Given the description of an element on the screen output the (x, y) to click on. 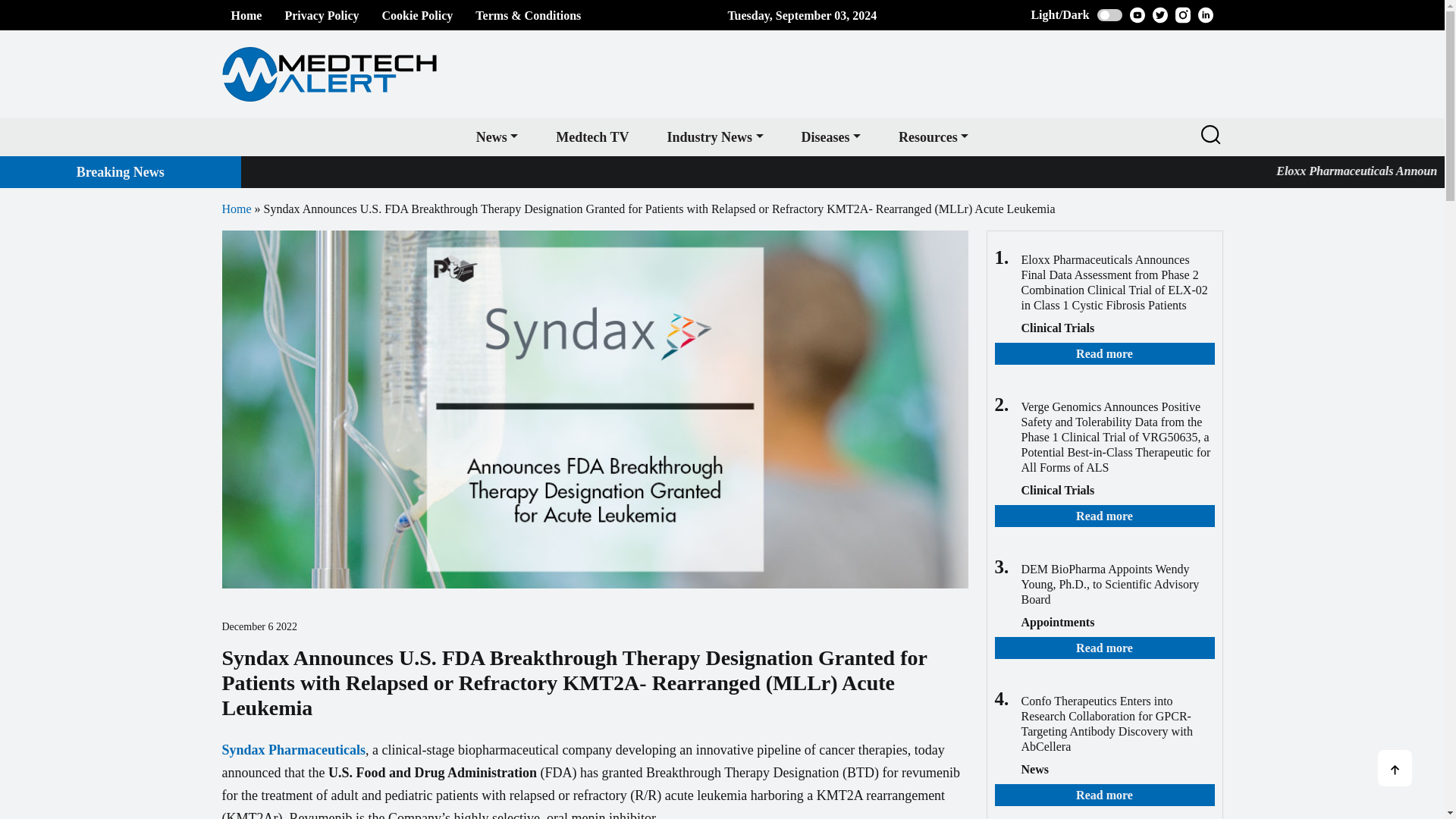
Industry News (714, 136)
Privacy Policy (320, 15)
Home (246, 15)
Diseases (831, 136)
News (497, 136)
Medtech TV (592, 136)
Resources (933, 136)
Cookie Policy (416, 15)
